Given the description of an element on the screen output the (x, y) to click on. 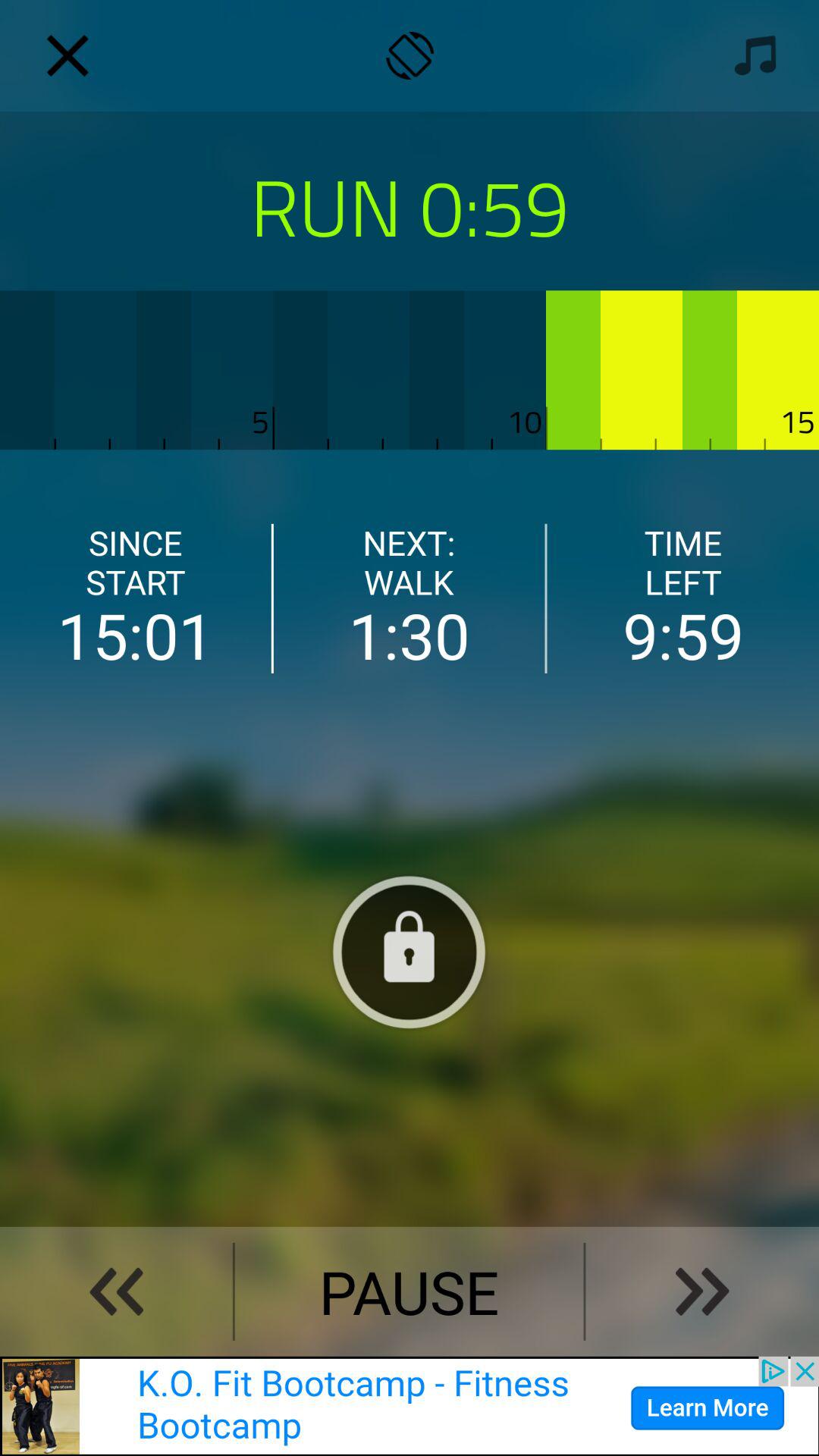
go back (116, 1291)
